Given the description of an element on the screen output the (x, y) to click on. 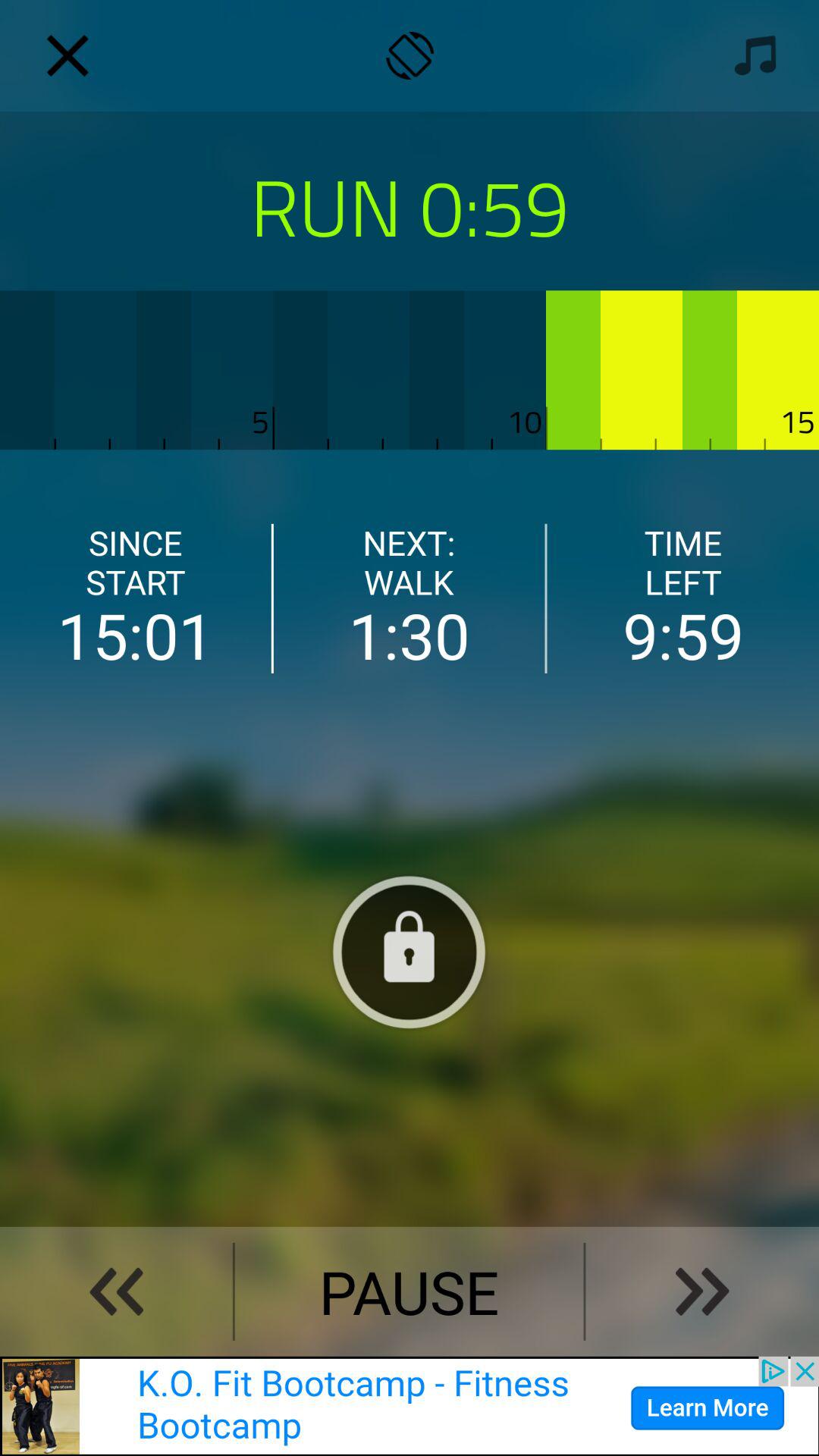
go back (116, 1291)
